Given the description of an element on the screen output the (x, y) to click on. 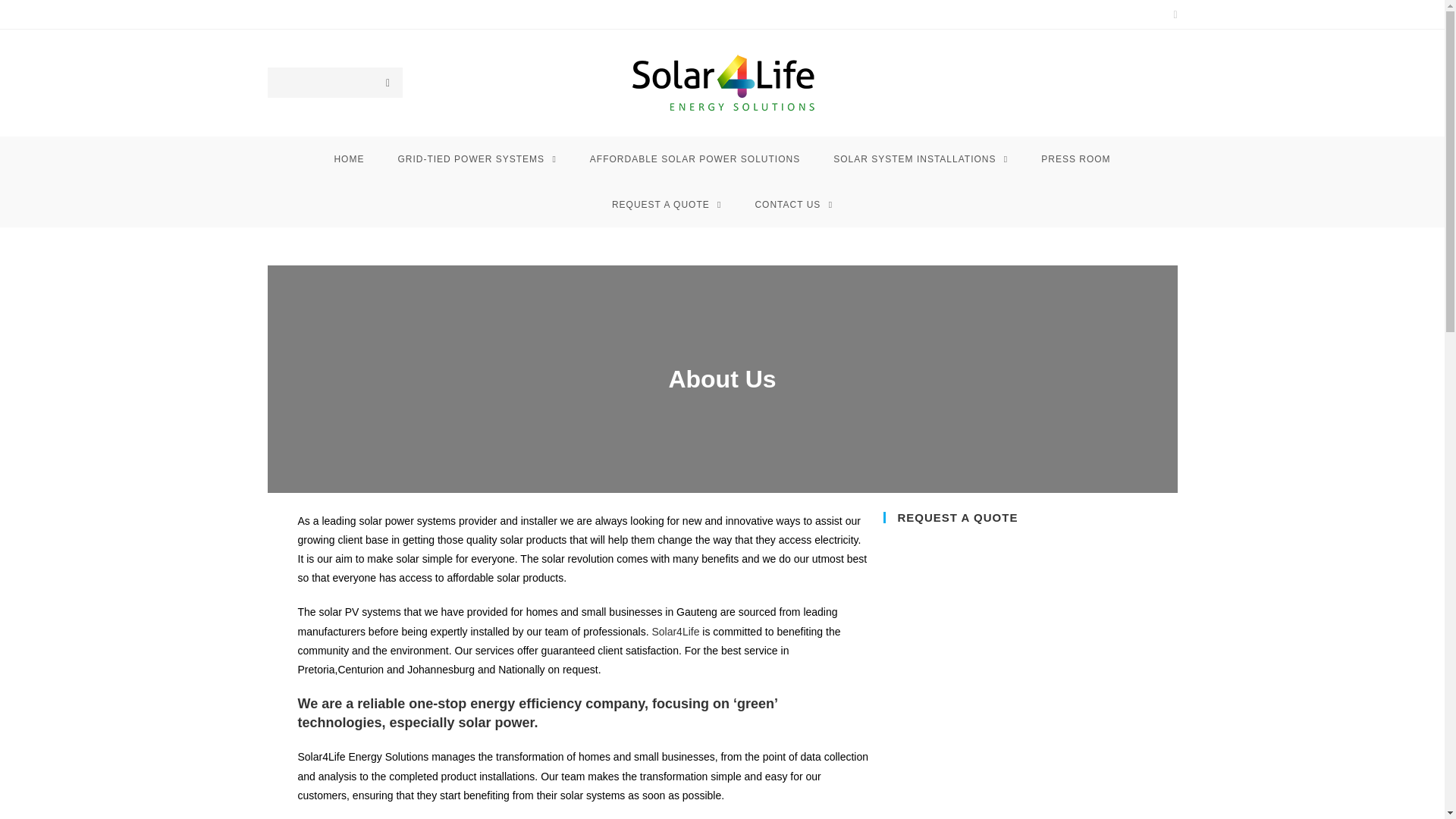
Solar4Life (675, 631)
HOME (348, 158)
SOLAR SYSTEM INSTALLATIONS (920, 158)
GRID-TIED POWER SYSTEMS (476, 158)
CONTACT US (793, 204)
AFFORDABLE SOLAR POWER SOLUTIONS (694, 158)
PRESS ROOM (1075, 158)
REQUEST A QUOTE (666, 204)
